Given the description of an element on the screen output the (x, y) to click on. 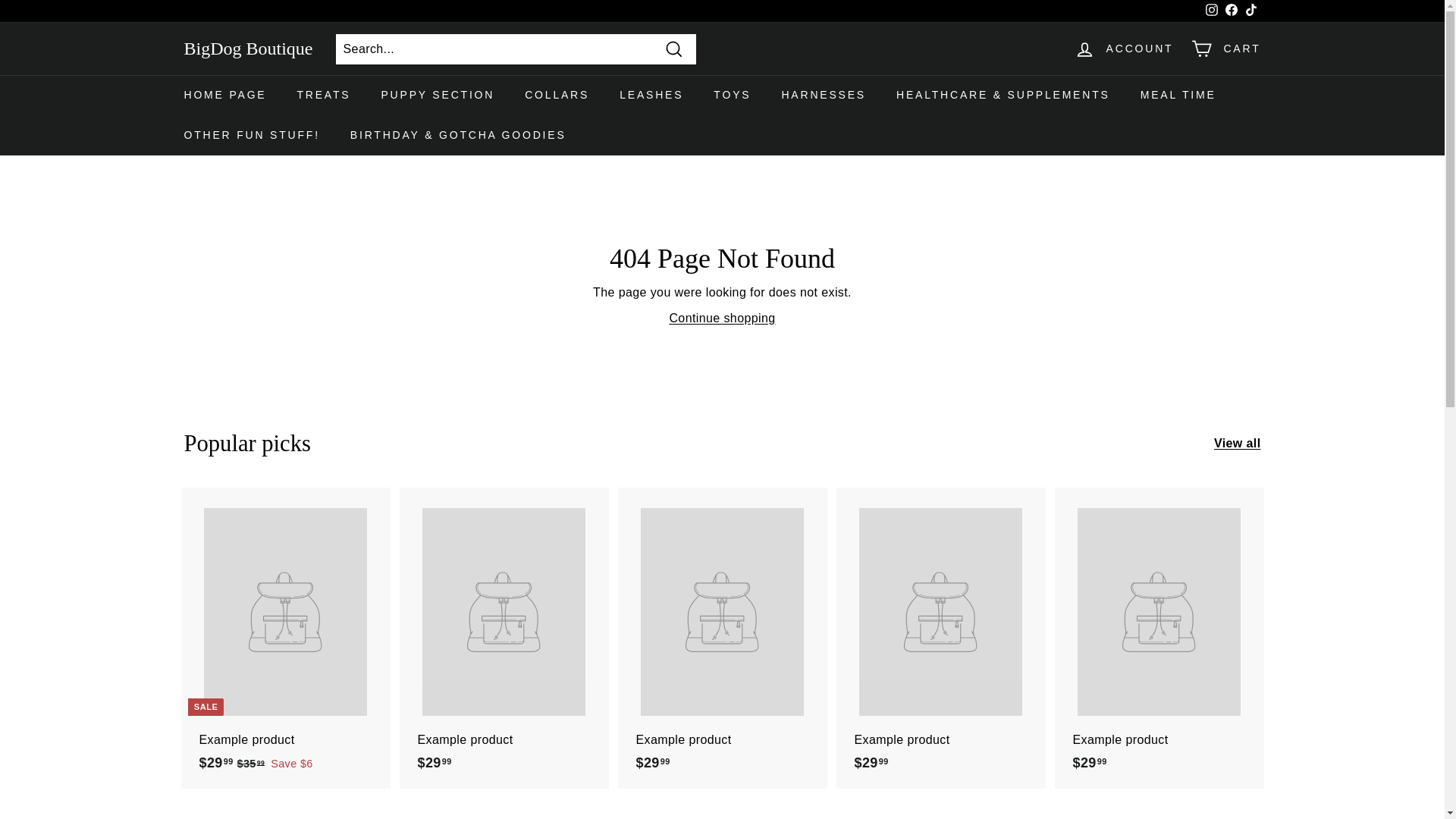
COLLARS (556, 95)
ACCOUNT (1123, 48)
PUPPY SECTION (437, 95)
HOME PAGE (224, 95)
TREATS (323, 95)
BigDog Boutique (248, 48)
